Given the description of an element on the screen output the (x, y) to click on. 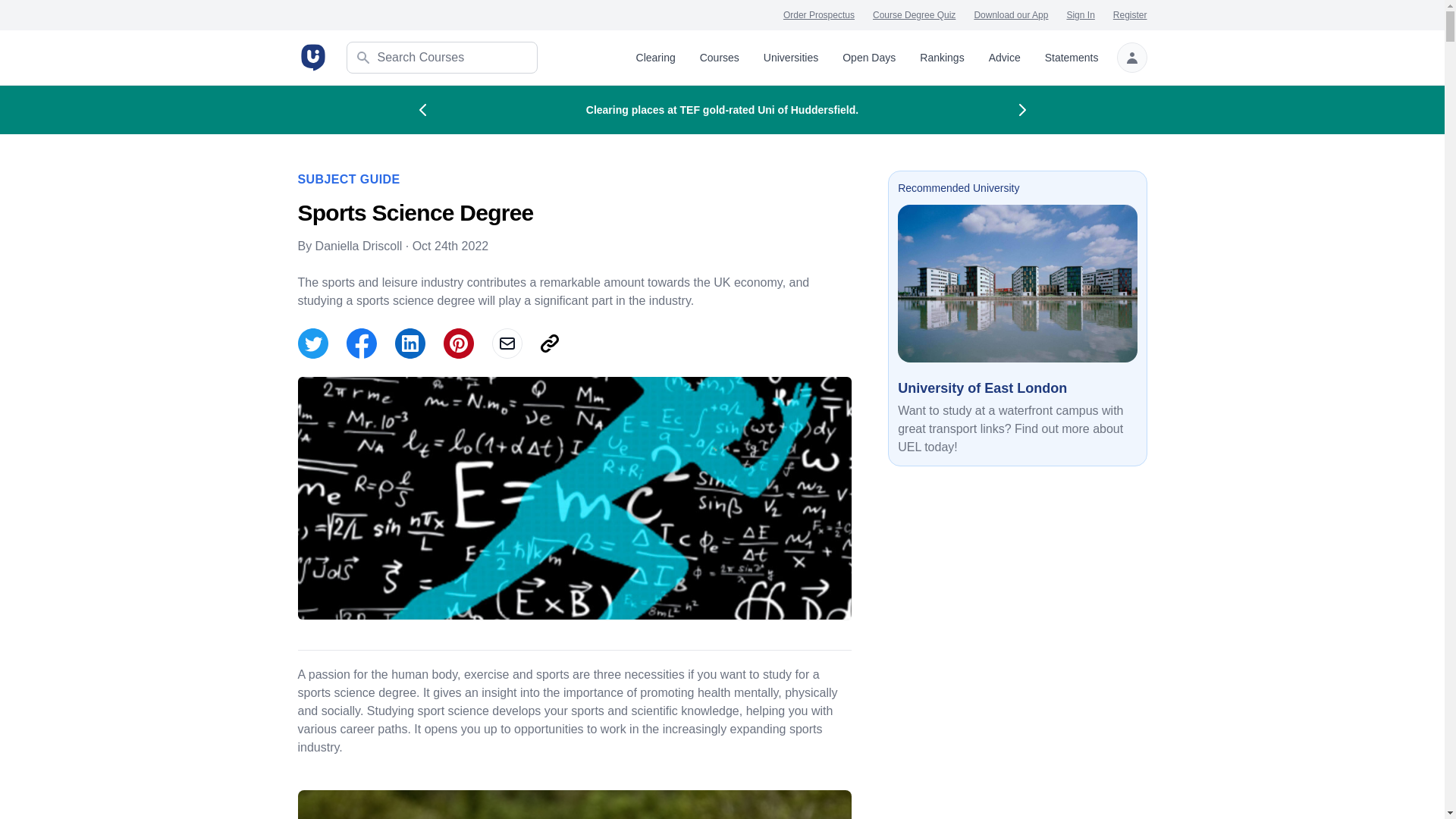
Course Degree Quiz (913, 15)
Share by Email (506, 343)
Statements (1072, 57)
Open Days (869, 57)
Share by LinkedIn (409, 343)
Order Prospectus (818, 15)
Share by Pinterest (457, 343)
Share by Twitter (312, 343)
Download our App (1011, 15)
Open user menu (1131, 57)
